Given the description of an element on the screen output the (x, y) to click on. 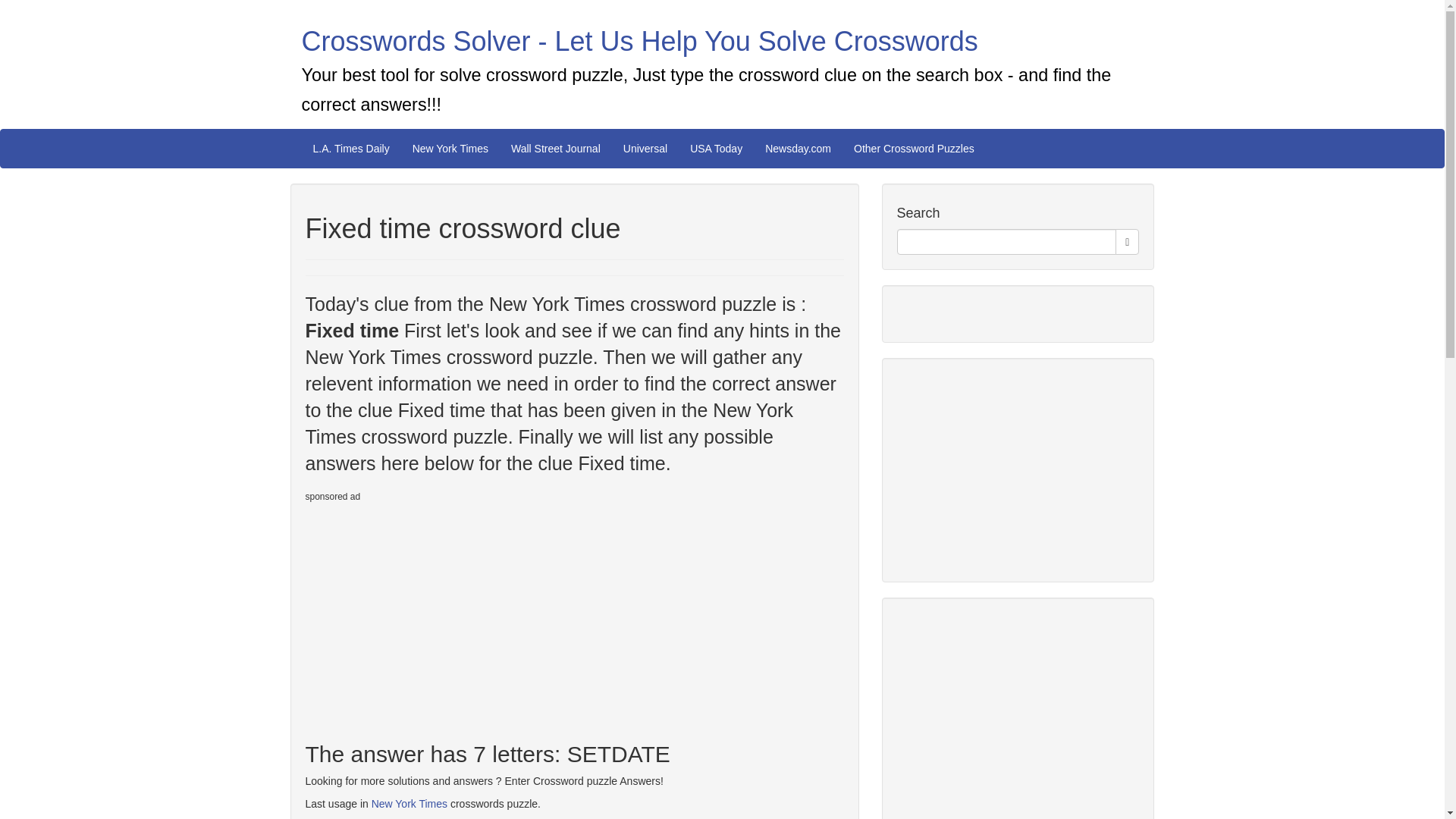
Universal (644, 148)
USA Today (716, 148)
Other Crossword Puzzles (914, 148)
Advertisement (431, 615)
L.A. Times Daily (351, 148)
New York Times (450, 148)
Wall Street Journal (555, 148)
Advertisement (1010, 467)
Advertisement (1010, 715)
New York Times (408, 803)
Newsday.com (798, 148)
